Given the description of an element on the screen output the (x, y) to click on. 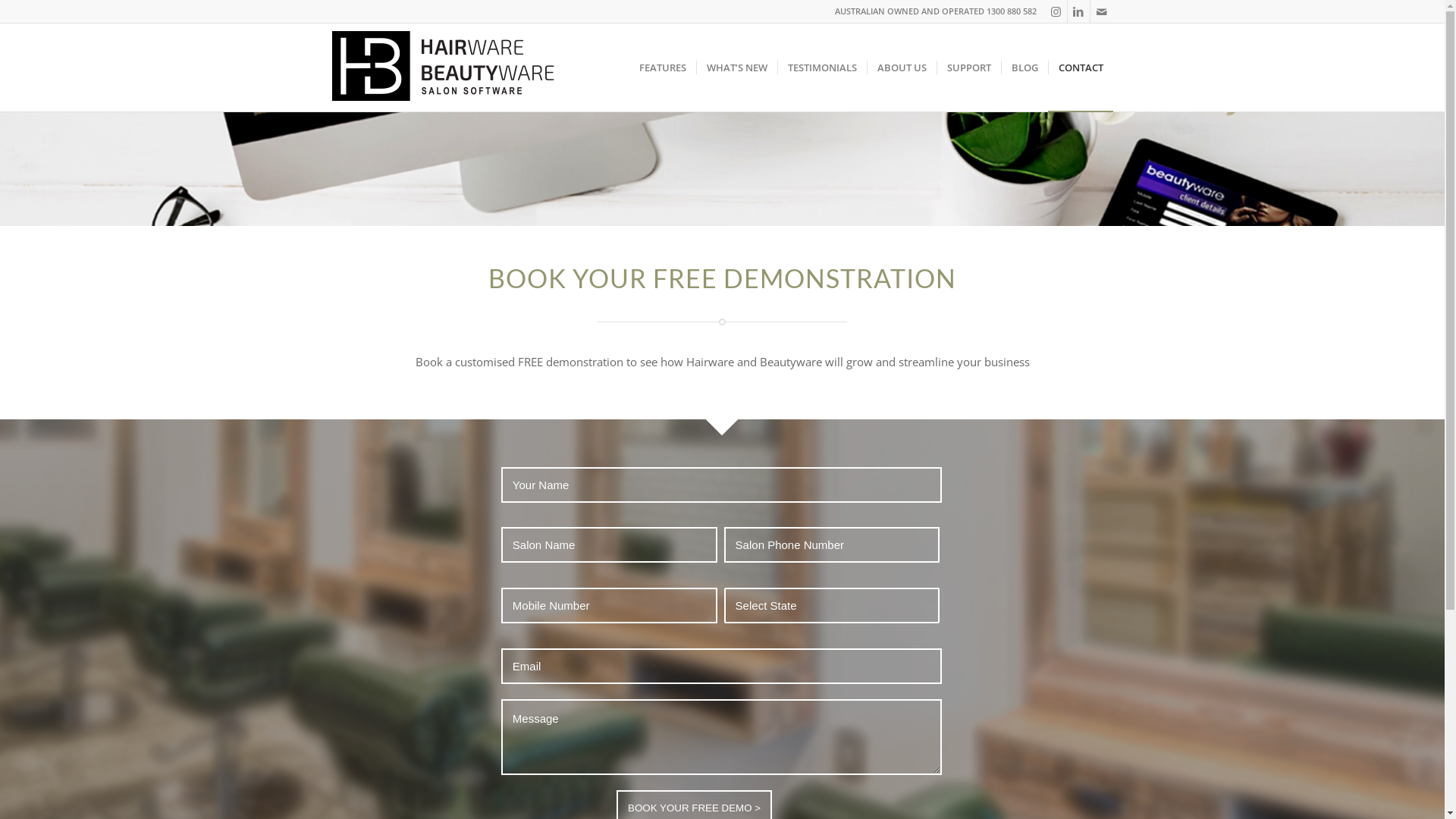
LinkedIn Element type: hover (1078, 11)
BLOG Element type: text (1024, 67)
TESTIMONIALS Element type: text (821, 67)
CONTACT Element type: text (1080, 67)
ABOUT US Element type: text (900, 67)
Instagram Element type: hover (1055, 11)
Mail Element type: hover (1101, 11)
SUPPORT Element type: text (967, 67)
FEATURES Element type: text (662, 67)
